Given the description of an element on the screen output the (x, y) to click on. 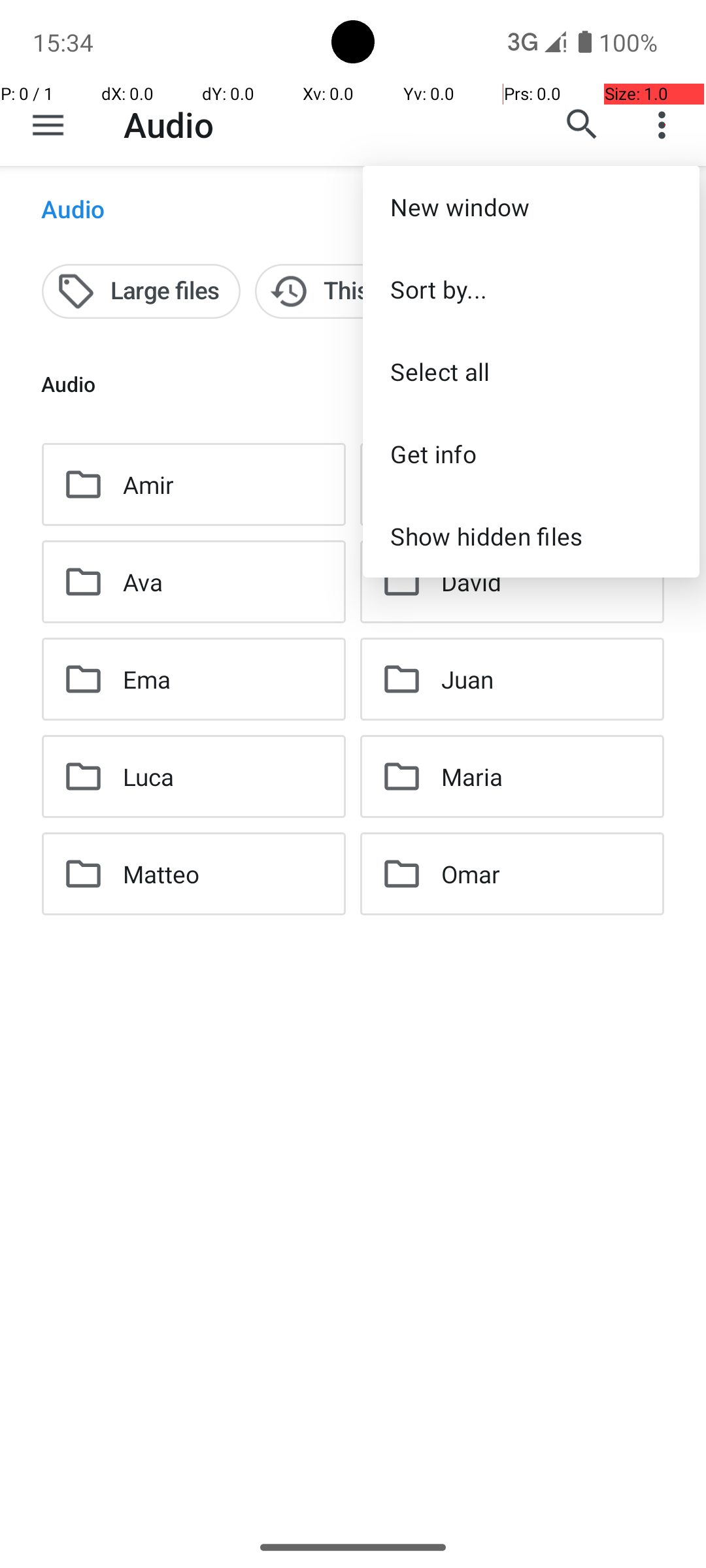
New window Element type: android.widget.TextView (531, 206)
Sort by... Element type: android.widget.TextView (531, 288)
Select all Element type: android.widget.TextView (531, 371)
Get info Element type: android.widget.TextView (531, 453)
Show hidden files Element type: android.widget.TextView (531, 535)
